Given the description of an element on the screen output the (x, y) to click on. 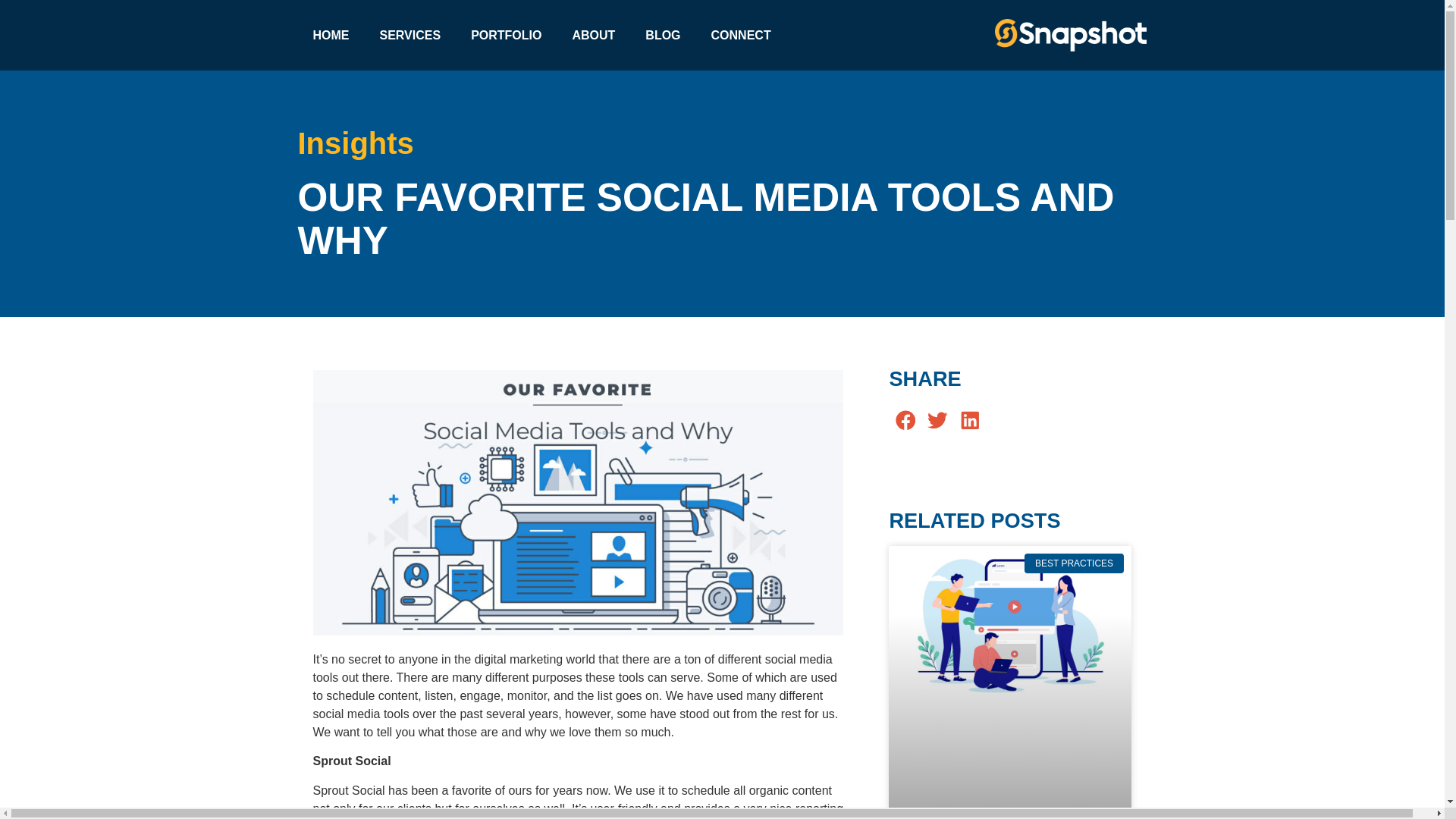
CONNECT (740, 35)
HOME (330, 35)
PORTFOLIO (505, 35)
SERVICES (409, 35)
ABOUT (593, 35)
BLOG (662, 35)
